Given the description of an element on the screen output the (x, y) to click on. 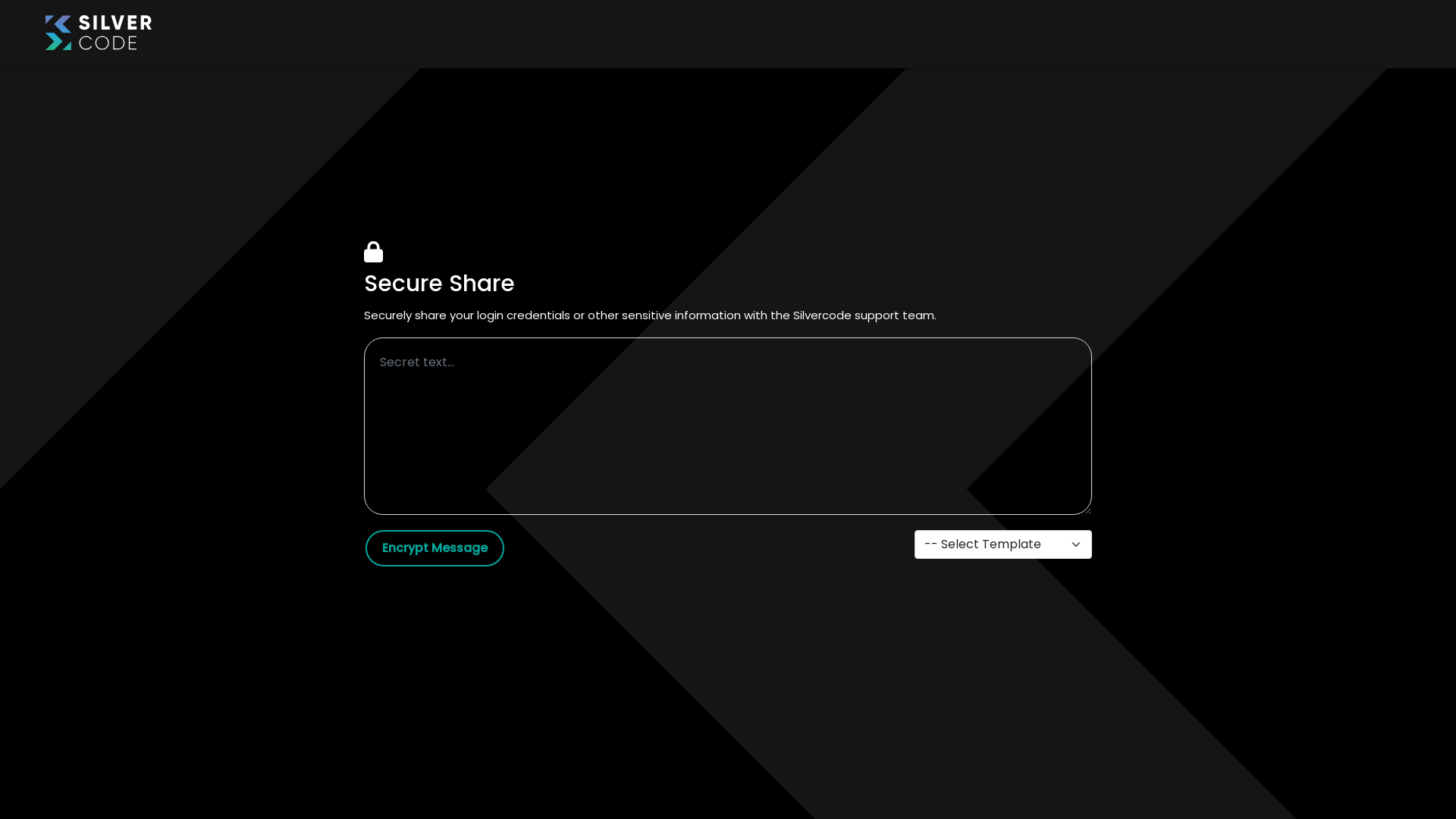
Encrypt Message Element type: text (434, 548)
